Given the description of an element on the screen output the (x, y) to click on. 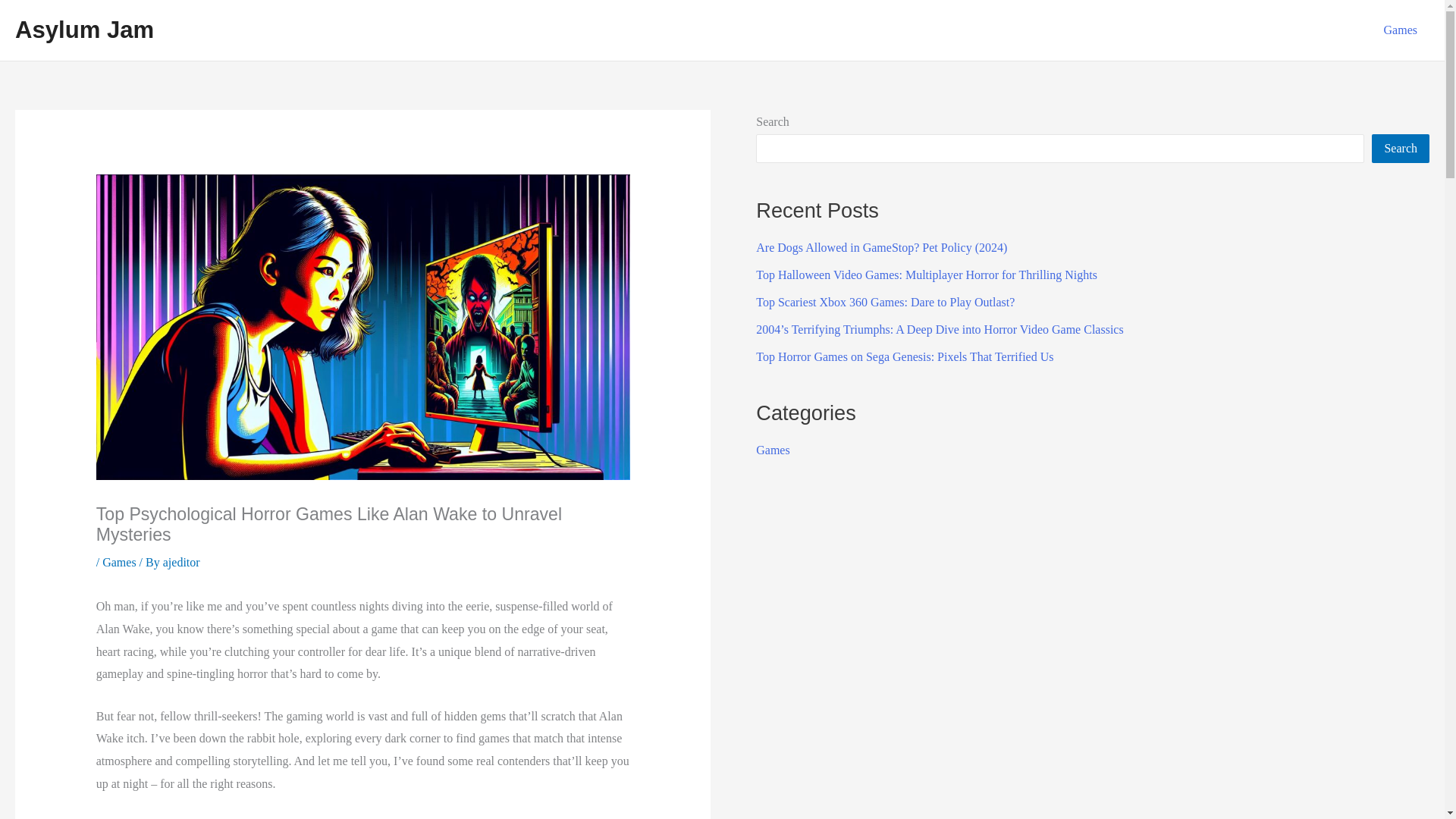
ajeditor (181, 562)
Games (118, 562)
Top Horror Games on Sega Genesis: Pixels That Terrified Us (903, 356)
View all posts by ajeditor (181, 562)
Search (1400, 148)
Top Scariest Xbox 360 Games: Dare to Play Outlast? (884, 301)
Games (772, 449)
Games (1400, 30)
Asylum Jam (84, 29)
